Given the description of an element on the screen output the (x, y) to click on. 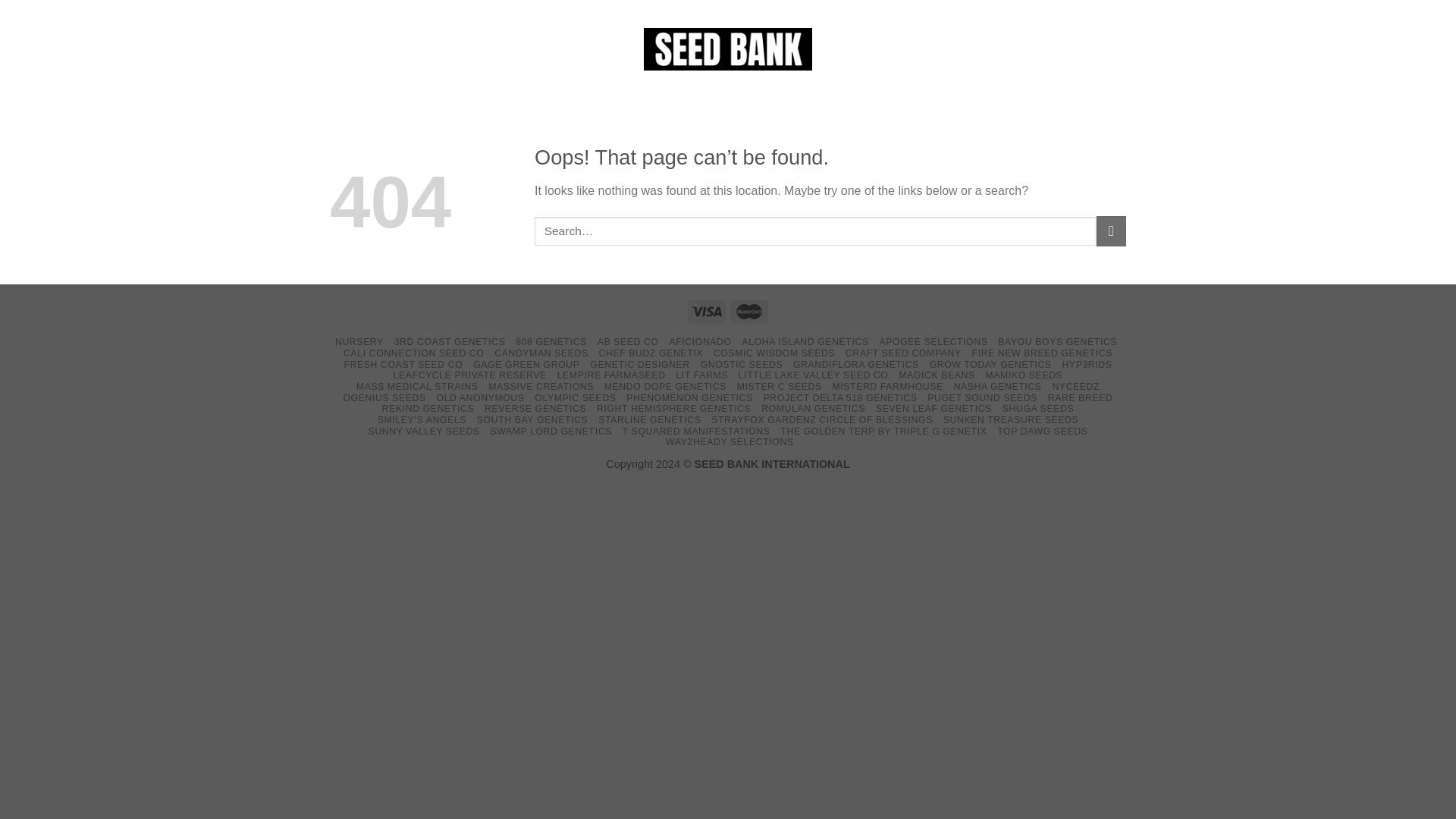
ALOHA ISLAND GENETICS (804, 341)
FRESH COAST SEED CO (403, 364)
COSMIC WISDOM SEEDS (774, 353)
AFICIONADO (699, 341)
GNOSTIC SEEDS (741, 364)
CRAFT SEED COMPANY (902, 353)
3RD COAST GENETICS (449, 341)
808 GENETICS (550, 341)
HYP3RIDS (1086, 364)
GRANDIFLORA GENETICS (855, 364)
FIRE NEW BREED GENETICS (1042, 353)
LEAFCYCLE PRIVATE RESERVE (470, 375)
AB SEED CO (627, 341)
CANDYMAN SEEDS (541, 353)
LEMPIRE FARMASEED (611, 375)
